Given the description of an element on the screen output the (x, y) to click on. 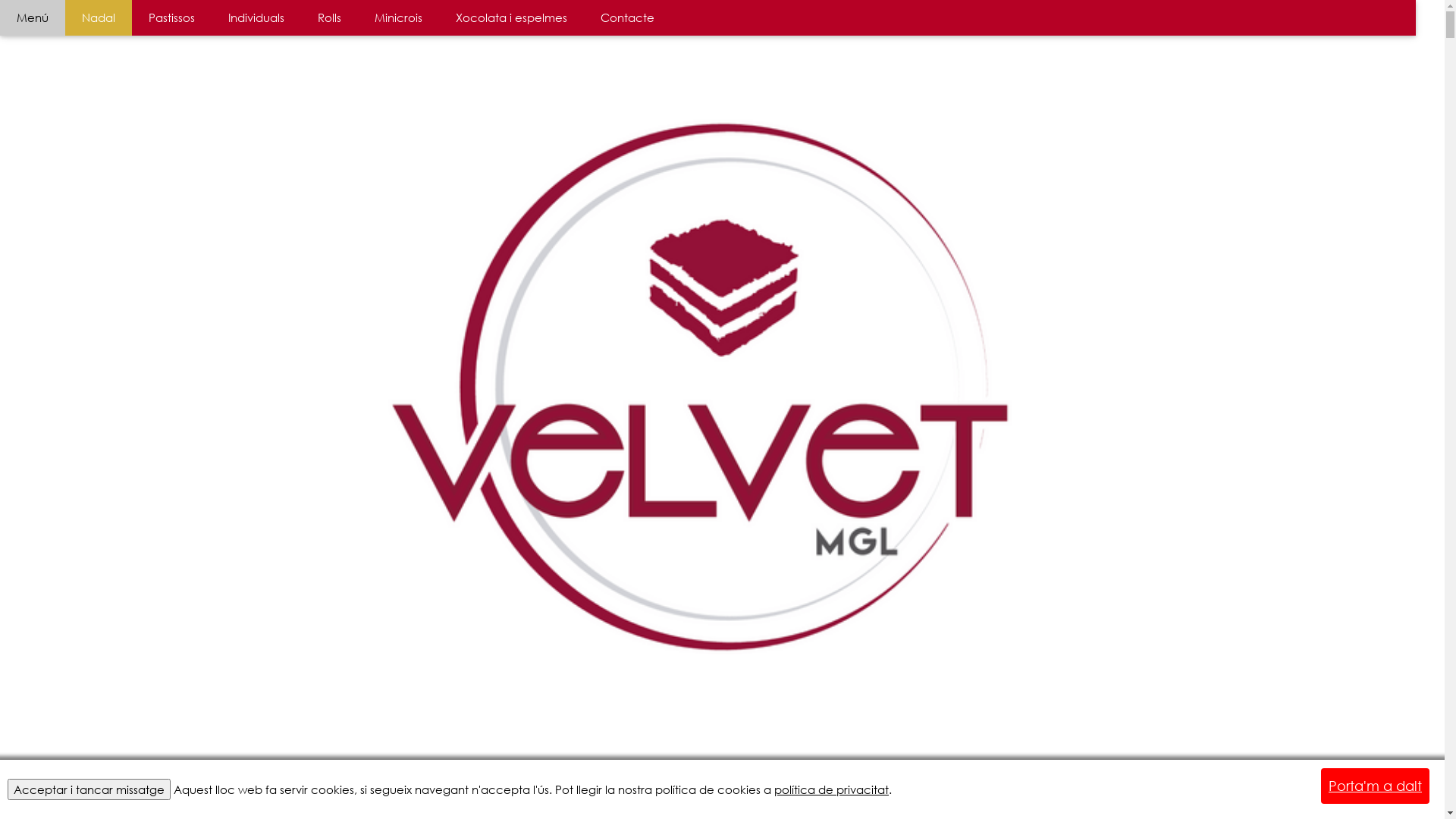
Individuals Element type: text (256, 17)
Pastissos Element type: text (171, 17)
Acceptar i tancar missatge Element type: text (88, 789)
Minicrois Element type: text (398, 17)
Rolls Element type: text (329, 17)
Nadal Element type: text (98, 17)
Porta'm a dalt Element type: text (1375, 785)
Xocolata i espelmes Element type: text (511, 17)
Contacte Element type: text (627, 17)
